Given the description of an element on the screen output the (x, y) to click on. 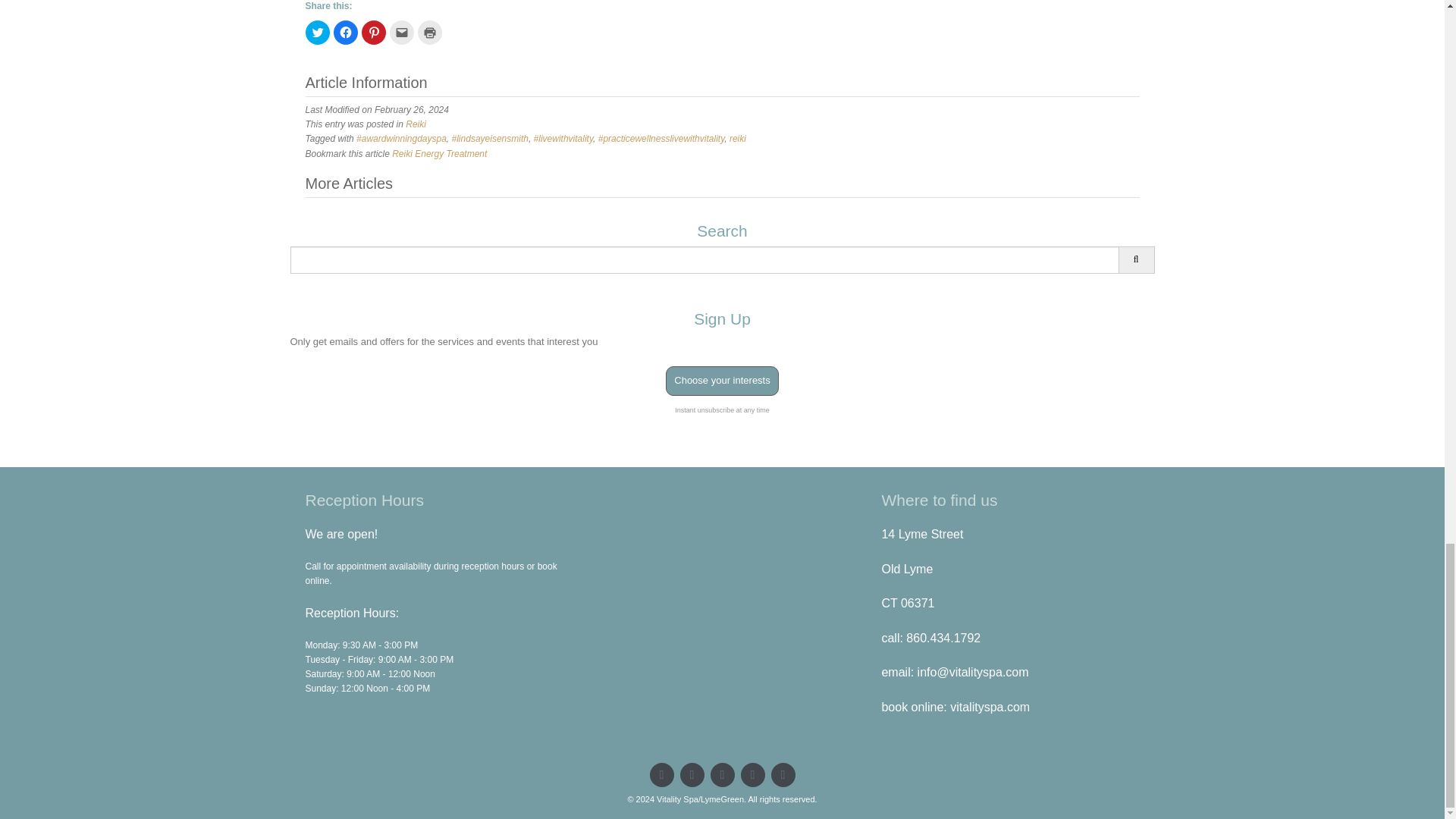
reiki (737, 138)
Click to share on Twitter (316, 32)
Reiki (416, 123)
Pinterest (721, 774)
Facebook (691, 774)
Click to email a link to a friend (401, 32)
Click to share on Facebook (345, 32)
Reiki Energy Treatment (438, 153)
Click to share on Pinterest (373, 32)
Click to print (428, 32)
Choose your interests (721, 380)
Search (1136, 259)
Instagram (782, 774)
Flickr (751, 774)
Twitter (660, 774)
